Given the description of an element on the screen output the (x, y) to click on. 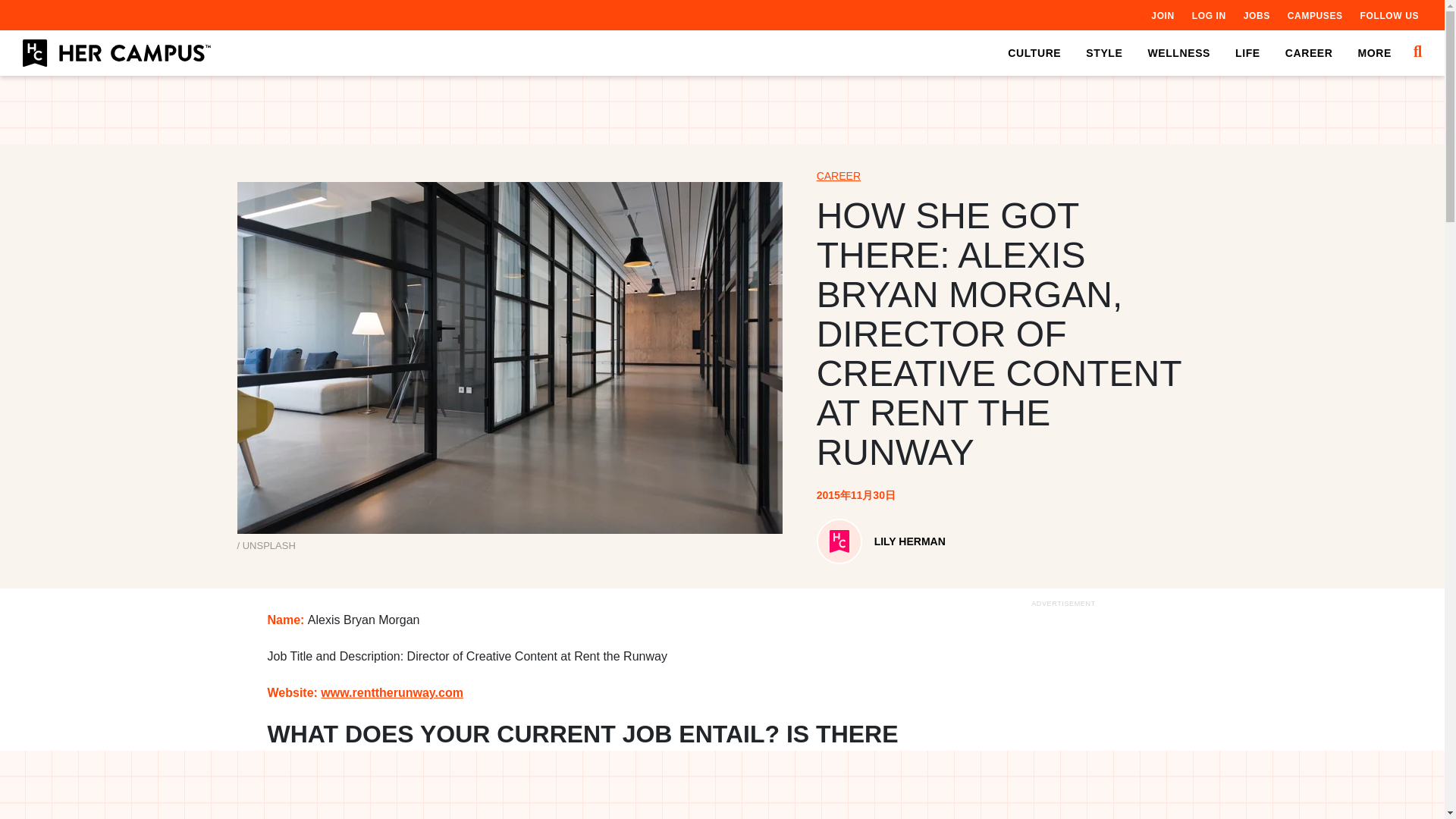
JOIN (1162, 15)
JOBS (1256, 15)
CAMPUSES (1314, 15)
LOG IN (1208, 15)
